Given the description of an element on the screen output the (x, y) to click on. 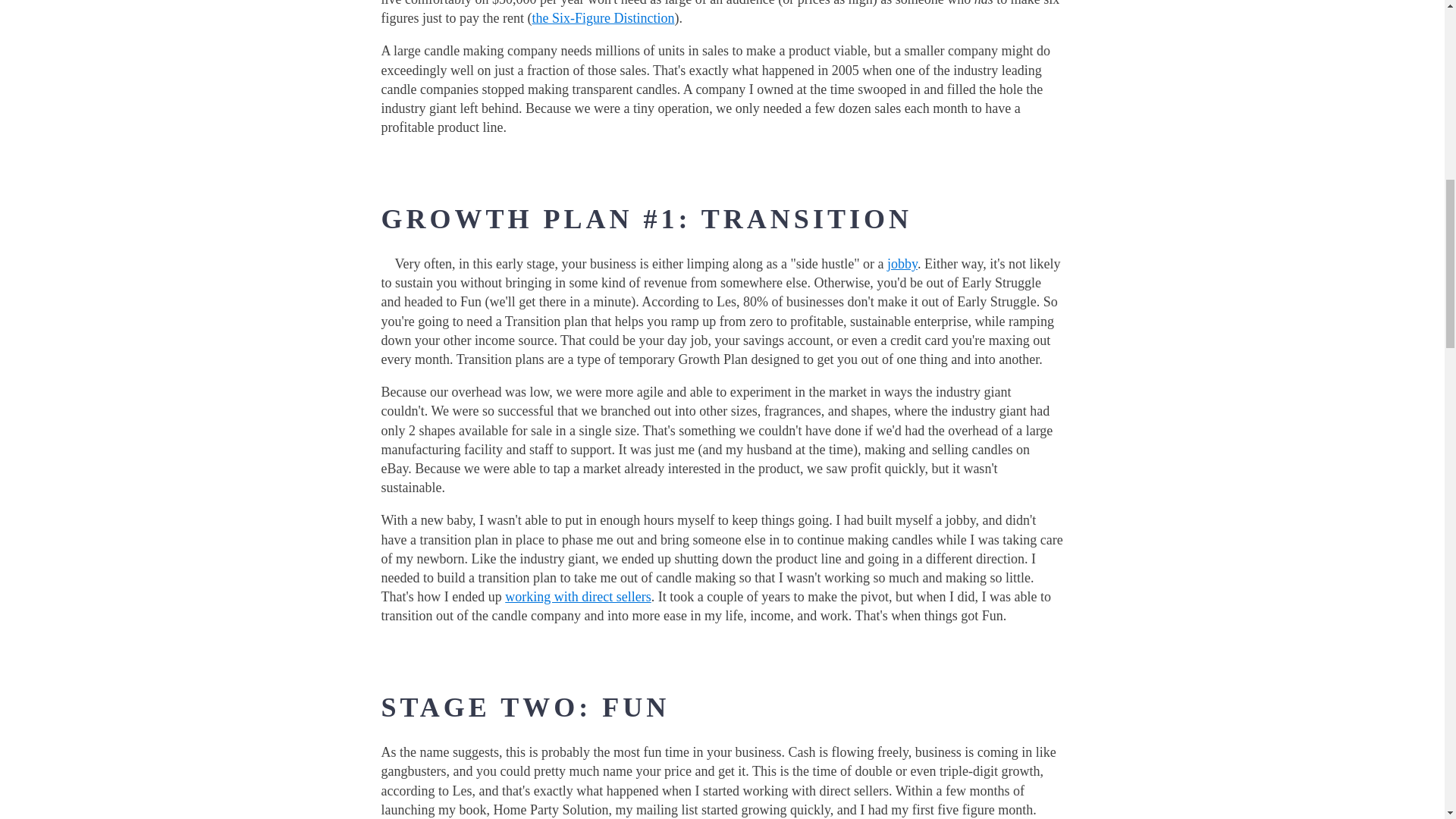
the Six-Figure Distinction (602, 17)
jobby (901, 263)
working with direct sellers (577, 596)
